Given the description of an element on the screen output the (x, y) to click on. 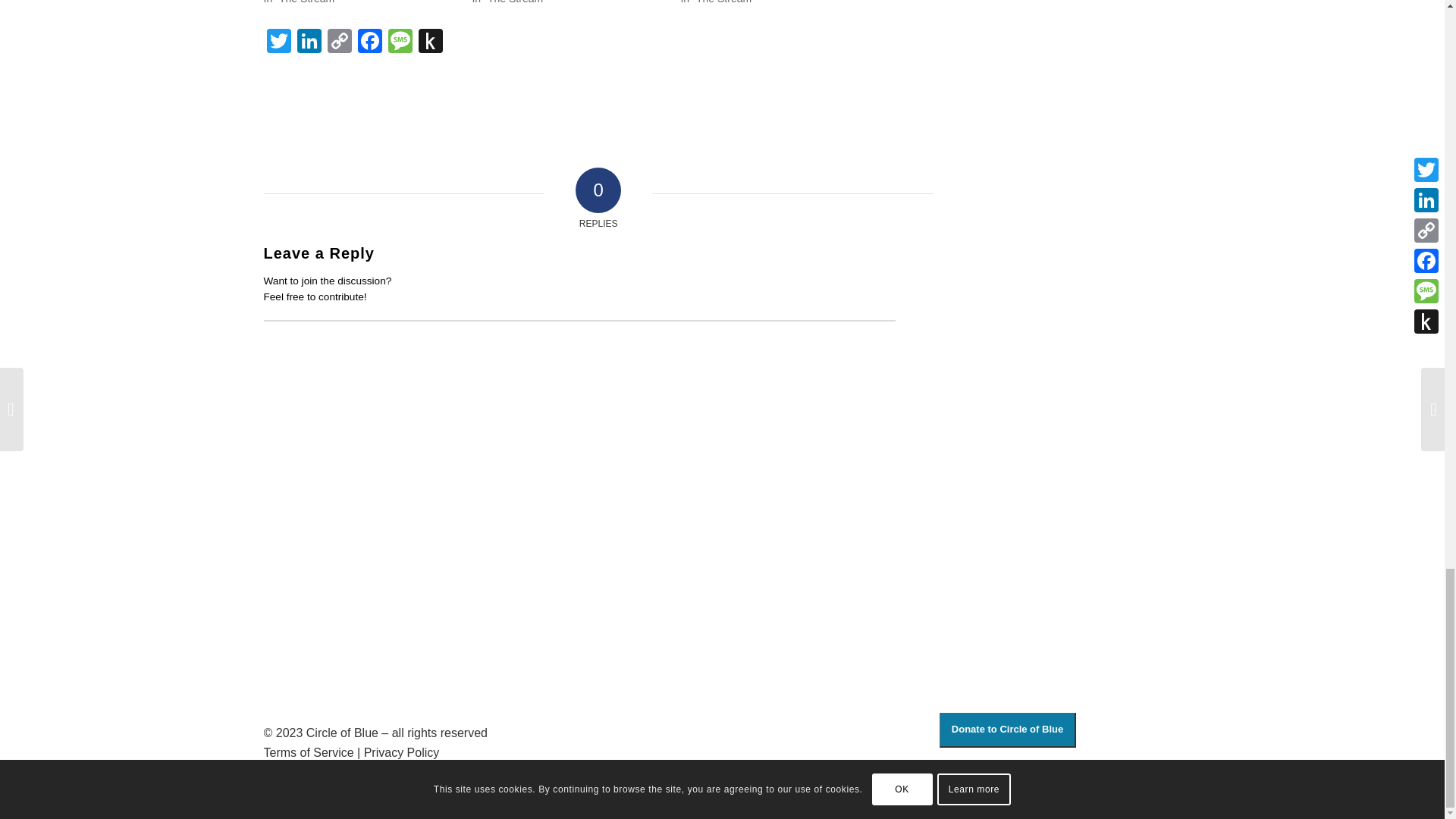
Message (399, 42)
LinkedIn (309, 42)
Push to Kindle (429, 42)
Copy Link (339, 42)
Twitter (278, 42)
Facebook (370, 42)
